Given the description of an element on the screen output the (x, y) to click on. 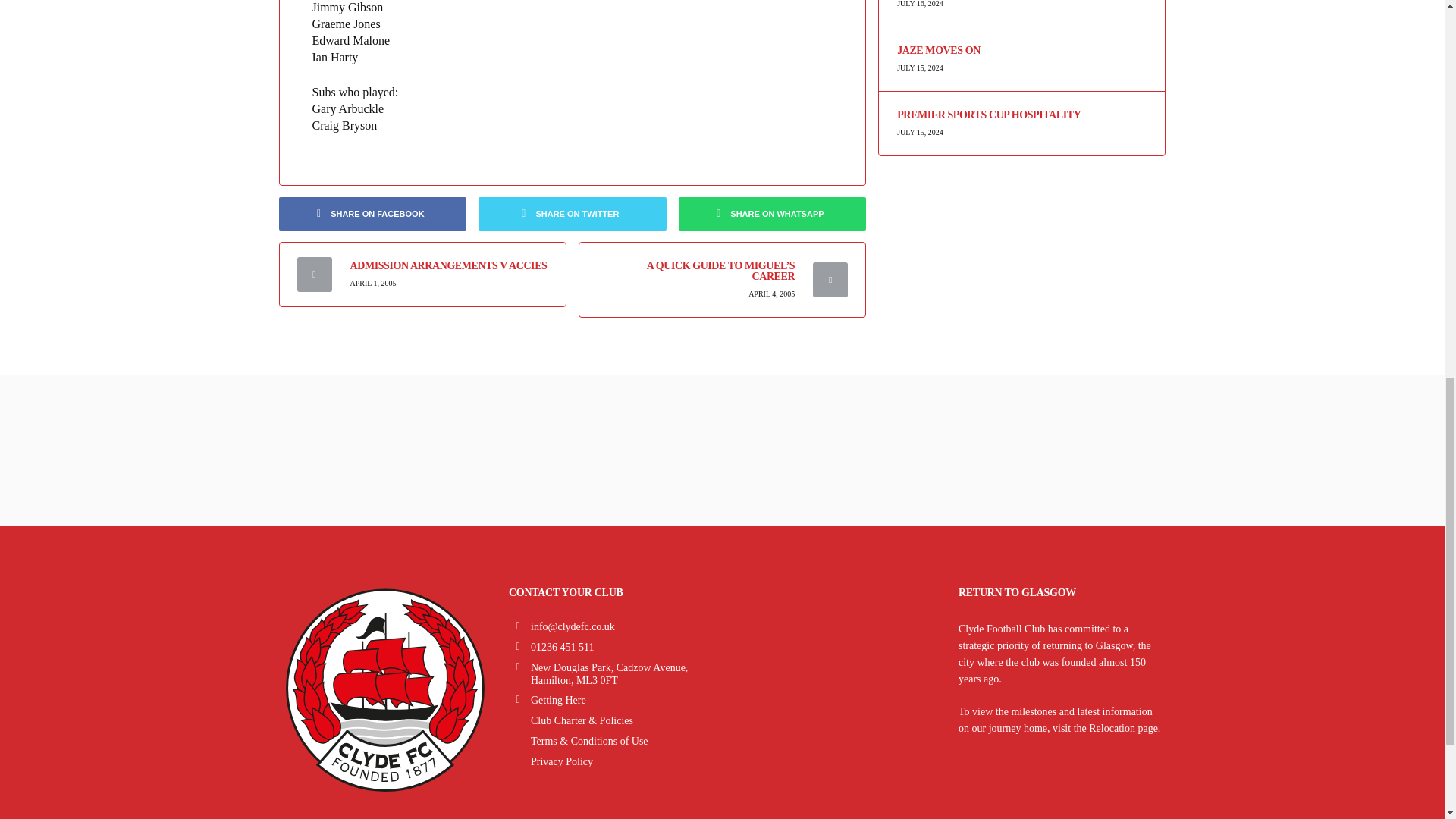
Premier Sports Cup Hospitality (1021, 114)
Jaze Moves On (1021, 50)
